Given the description of an element on the screen output the (x, y) to click on. 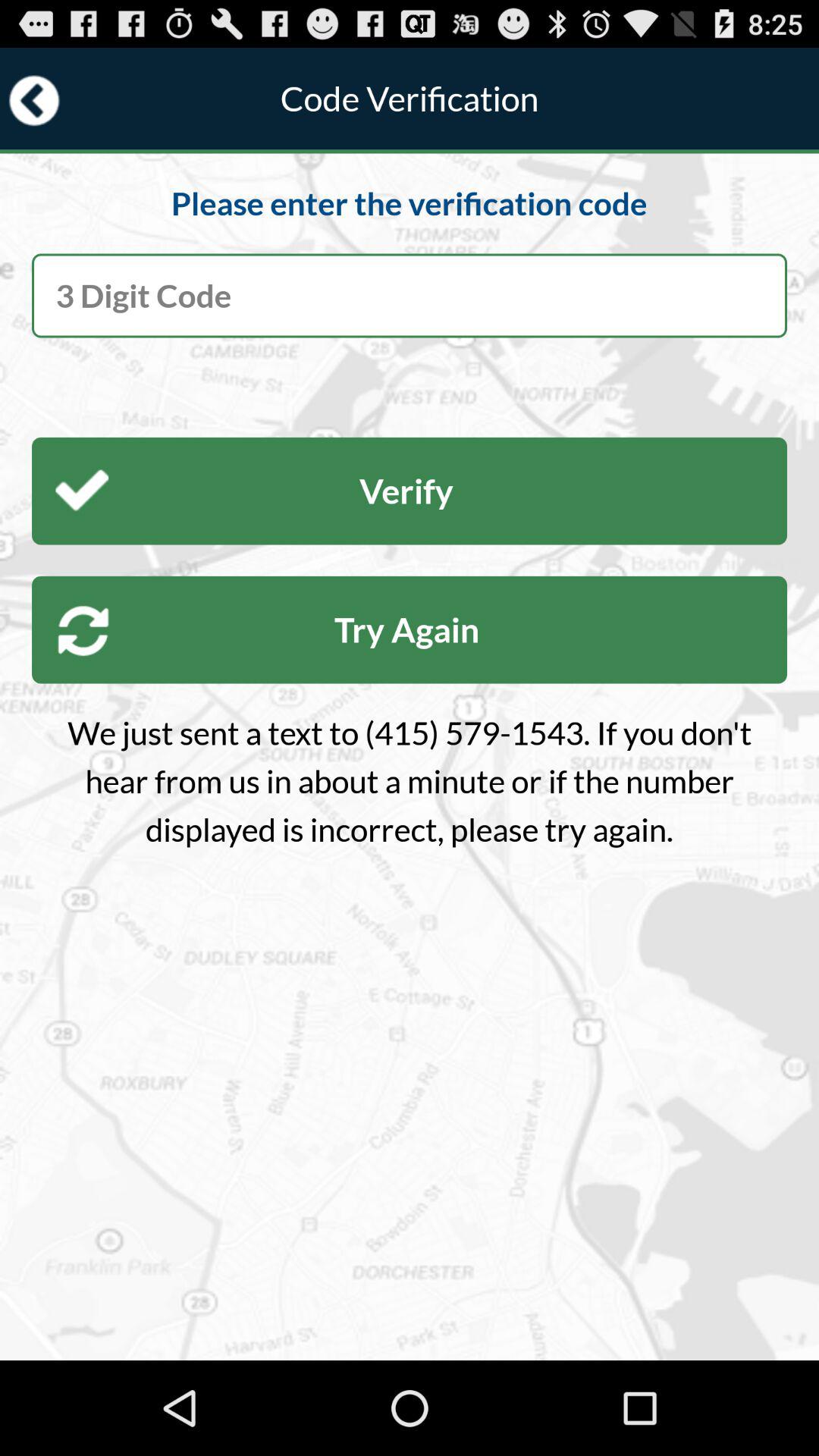
scroll to try again (409, 629)
